Given the description of an element on the screen output the (x, y) to click on. 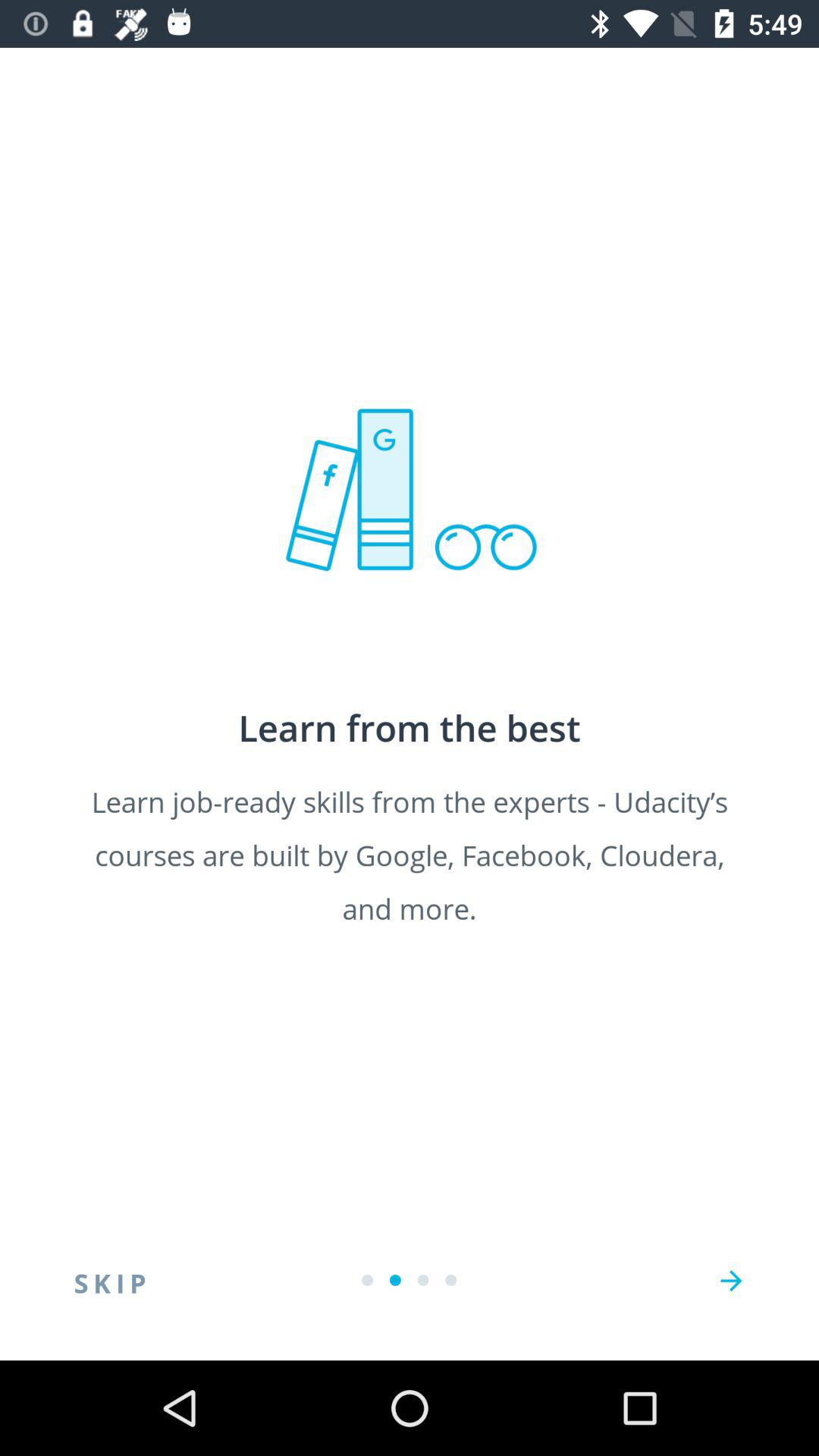
next page (731, 1280)
